Given the description of an element on the screen output the (x, y) to click on. 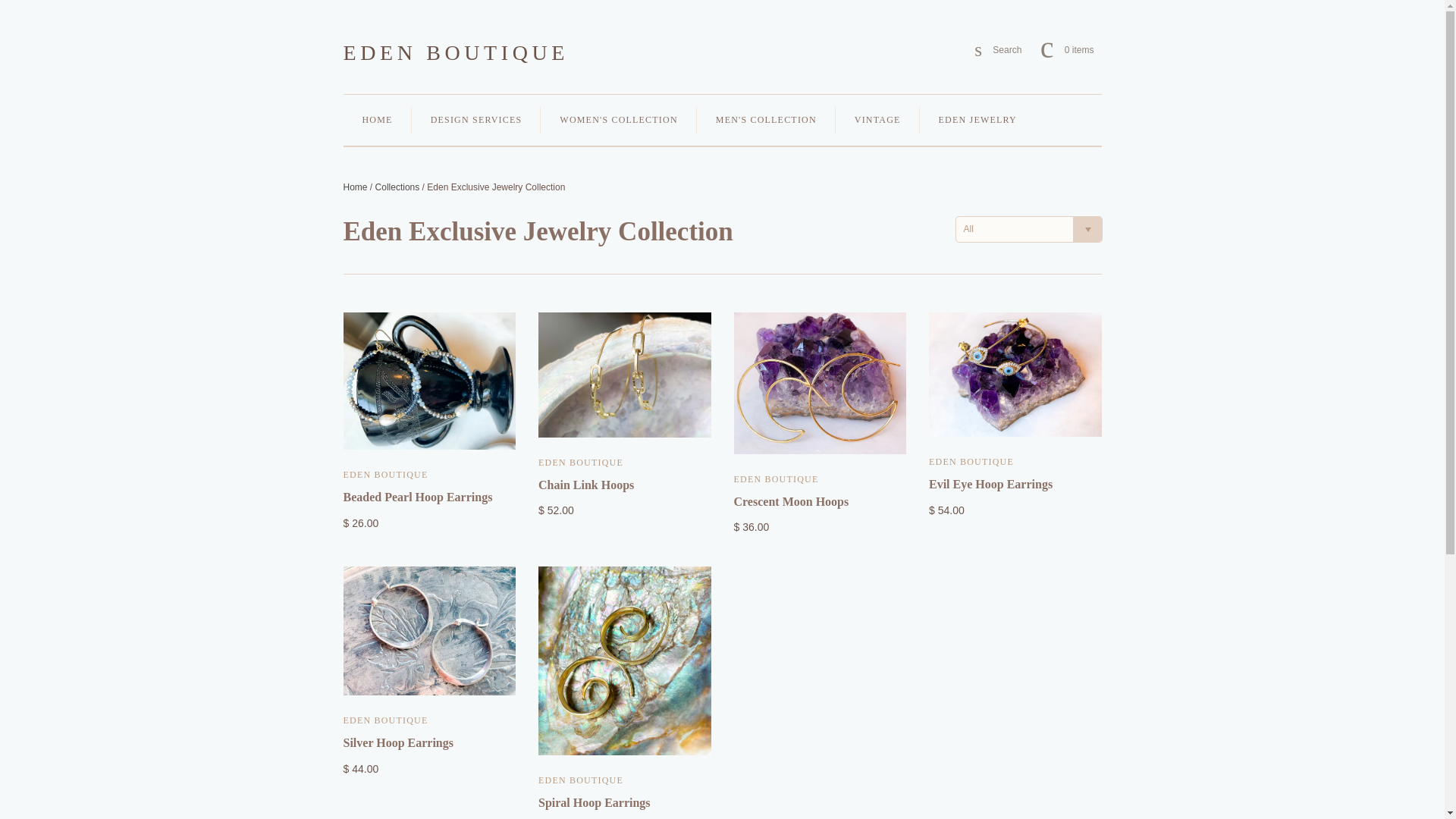
WOMEN'S COLLECTION (617, 120)
Home (354, 186)
MEN'S COLLECTION (766, 120)
HOME (376, 120)
EDEN BOUTIQUE (455, 52)
VINTAGE (998, 50)
EDEN JEWELRY (877, 120)
Collections (977, 120)
DESIGN SERVICES (397, 186)
